Given the description of an element on the screen output the (x, y) to click on. 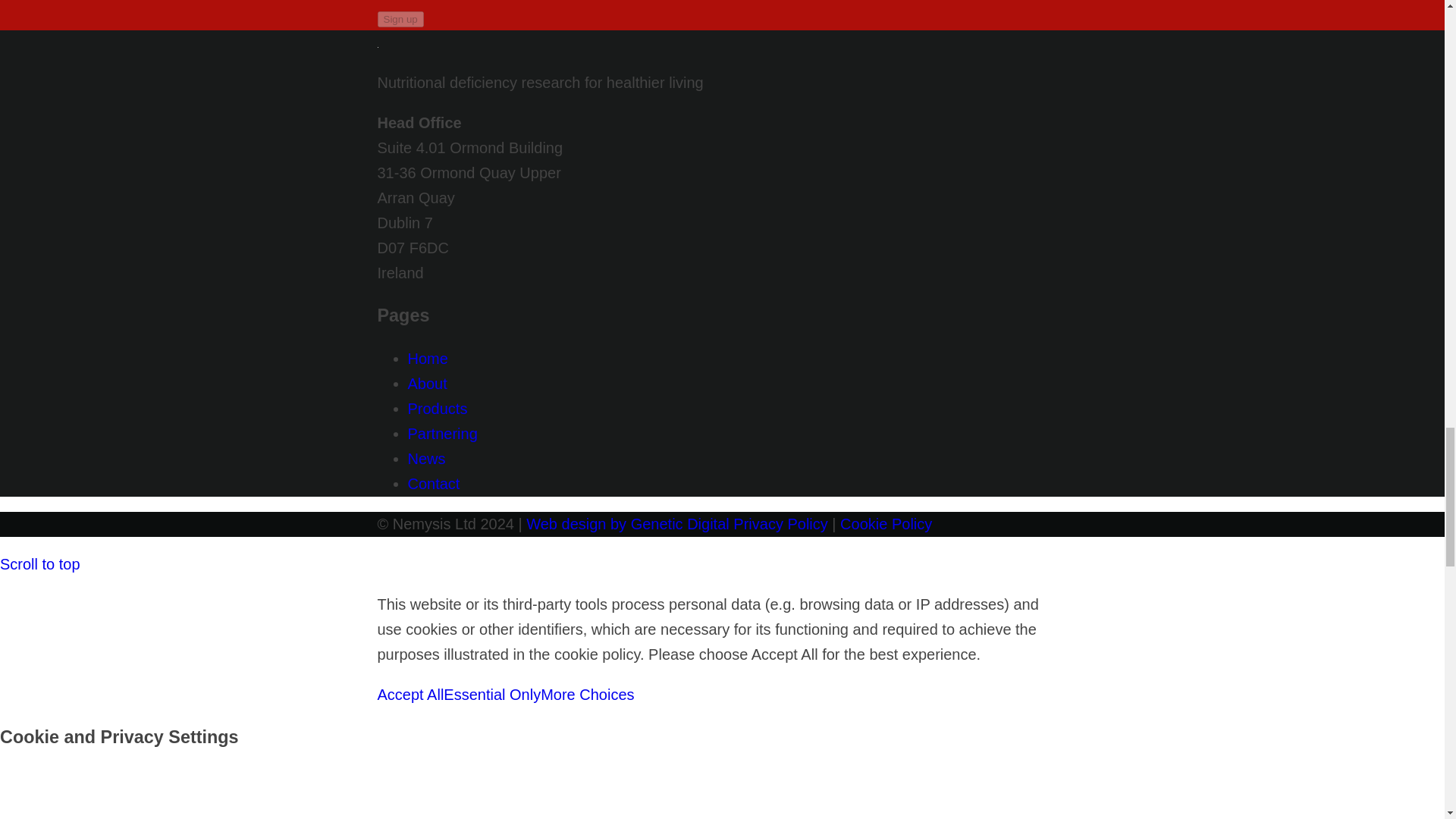
News (426, 458)
Scroll to top (40, 564)
Cookie Policy (885, 523)
Scroll to top (40, 564)
More Choices (586, 694)
Privacy Policy (780, 523)
Contact (433, 483)
Products (437, 408)
Home (427, 358)
Web design by Genetic Digital (627, 523)
About (426, 383)
Sign up (400, 19)
Essential Only (492, 694)
